Given the description of an element on the screen output the (x, y) to click on. 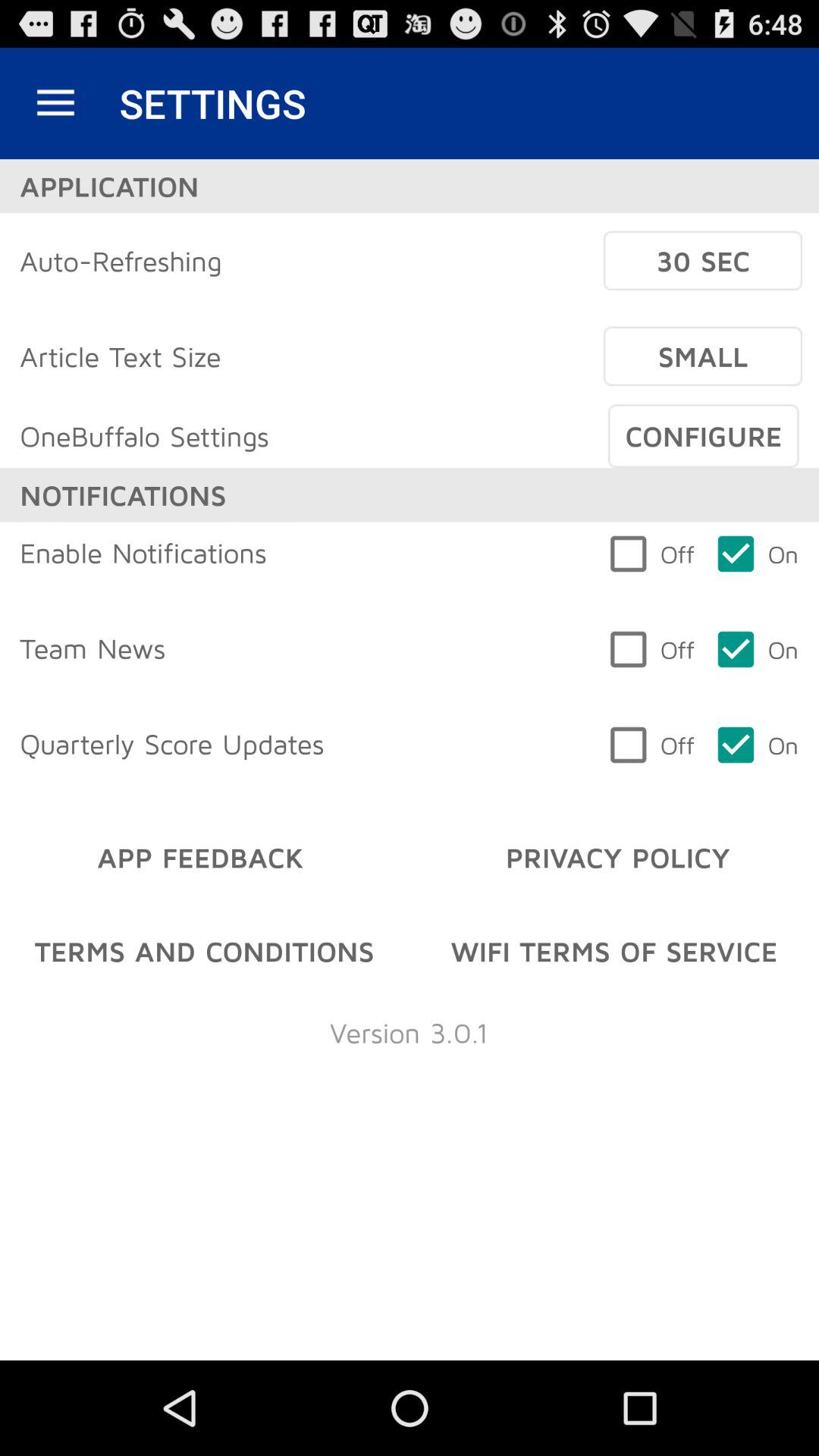
turn off icon above application item (55, 103)
